Given the description of an element on the screen output the (x, y) to click on. 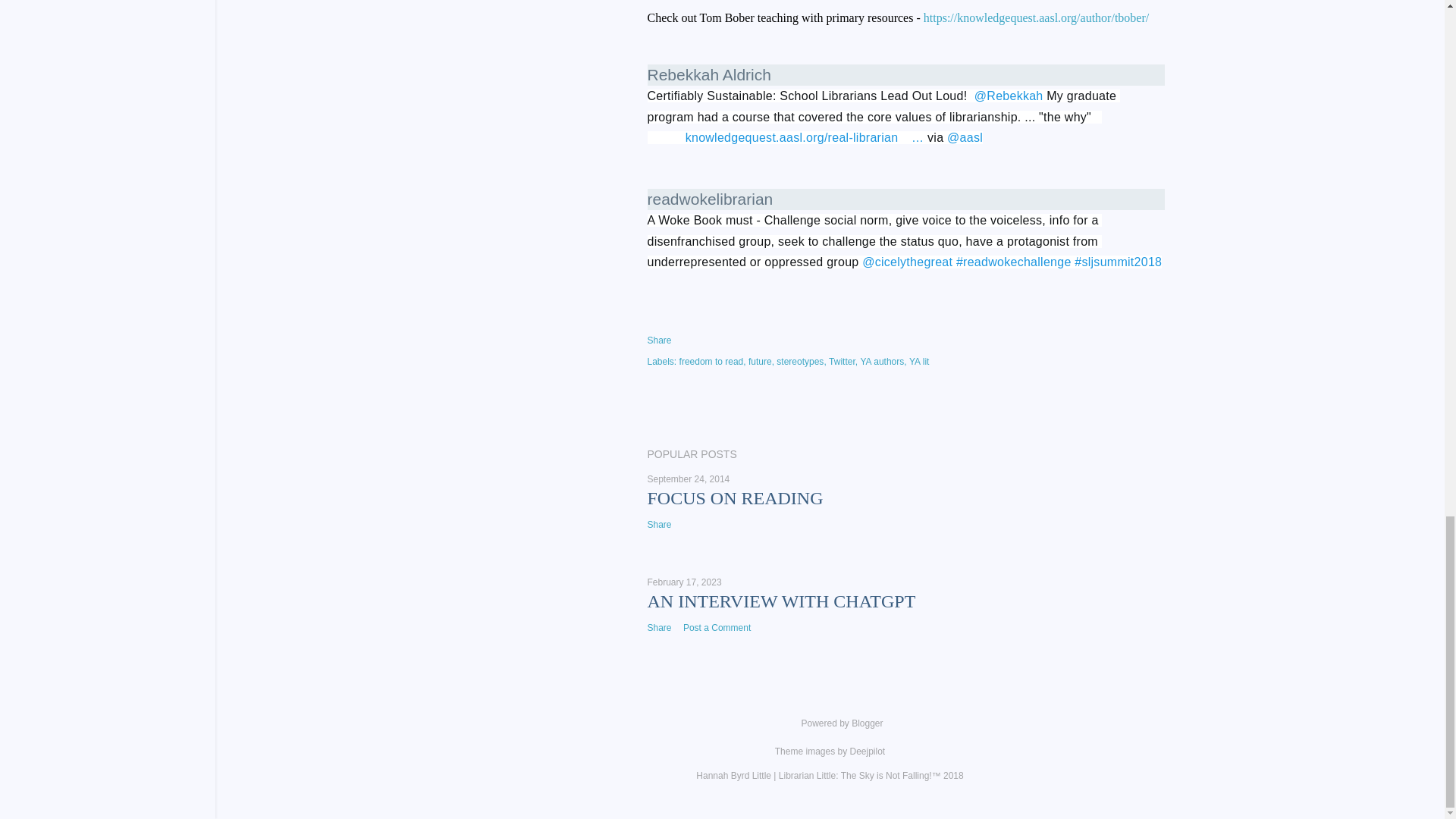
stereotypes (800, 361)
YA authors (882, 361)
readwokelibrarian (710, 199)
future (761, 361)
freedom to read (712, 361)
permanent link (688, 479)
Twitter (842, 361)
YA lit (918, 361)
Share (659, 339)
Rebekkah Aldrich (709, 74)
